Given the description of an element on the screen output the (x, y) to click on. 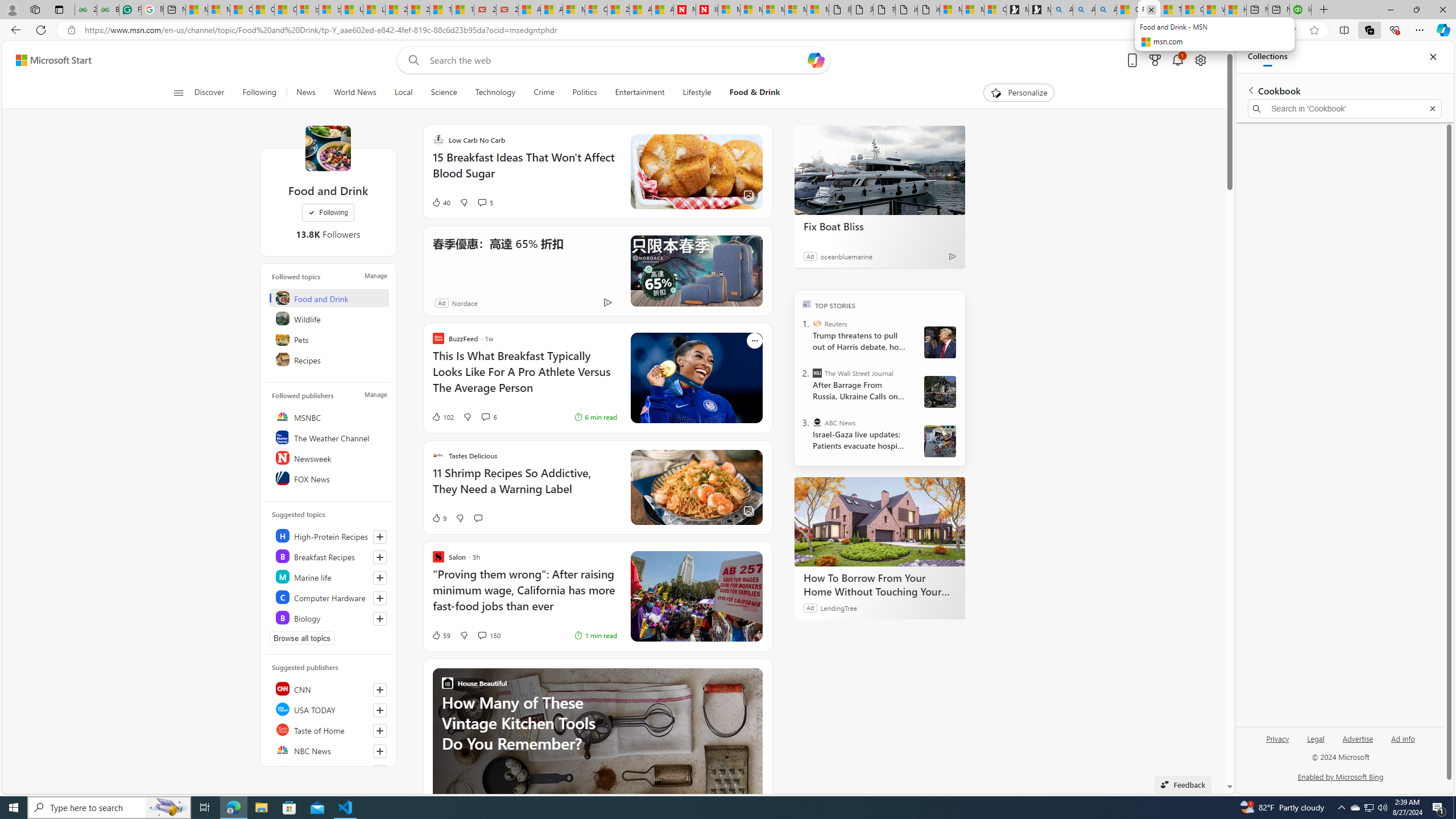
20 Ways to Boost Your Protein Intake at Every Meal (618, 9)
Cloud Computing Services | Microsoft Azure (595, 9)
View comments 5 Comment (485, 202)
Search in 'Cookbook' (1345, 108)
Browse all topics (301, 638)
